Given the description of an element on the screen output the (x, y) to click on. 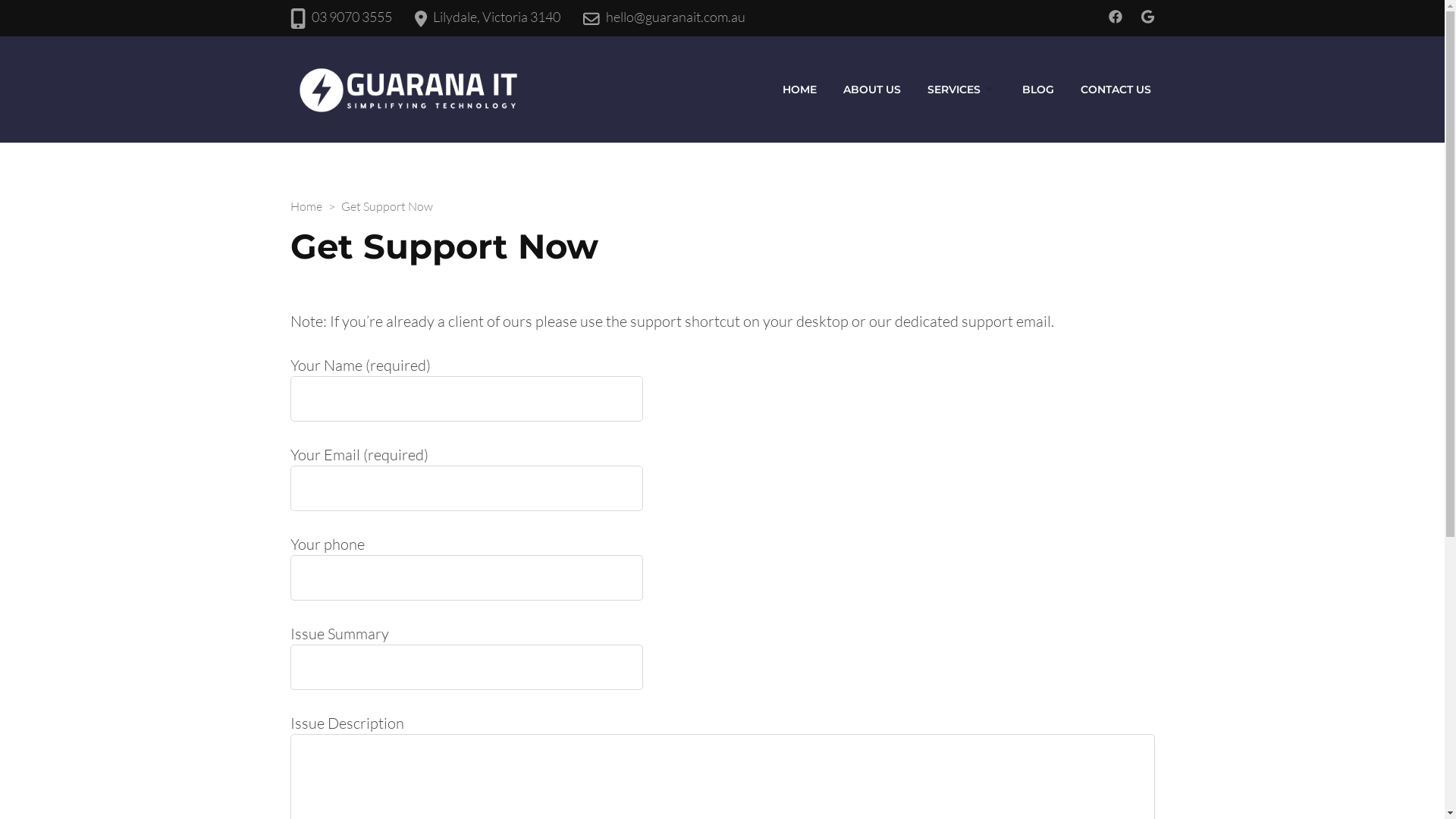
HOME Element type: text (798, 89)
Home Element type: text (305, 205)
SERVICES Element type: text (953, 89)
hello@guaranait.com.au Element type: text (675, 16)
CONTACT US Element type: text (1115, 89)
BLOG Element type: text (1037, 89)
03 9070 3555 Element type: text (351, 16)
ABOUT US Element type: text (870, 89)
Get Support Now Element type: text (387, 205)
Guarana IT Element type: text (569, 70)
